Given the description of an element on the screen output the (x, y) to click on. 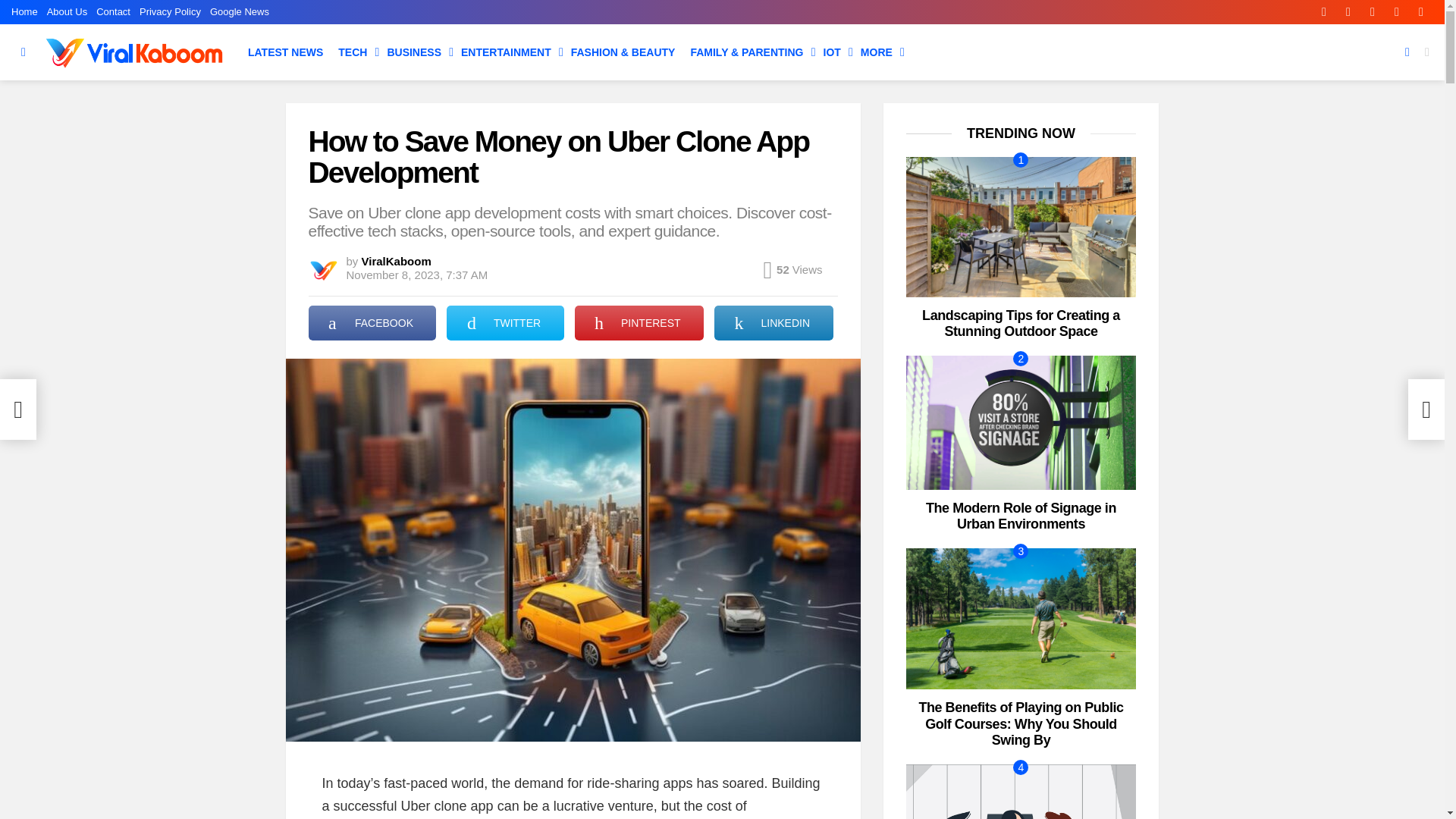
IOT (834, 51)
YouTube (1420, 11)
Posts by ViralKaboom (395, 260)
Menu (22, 52)
Privacy Policy (169, 12)
Pinterest (1371, 11)
TECH (354, 51)
Home (24, 12)
Share on Pinterest (639, 322)
LATEST NEWS (285, 51)
